Given the description of an element on the screen output the (x, y) to click on. 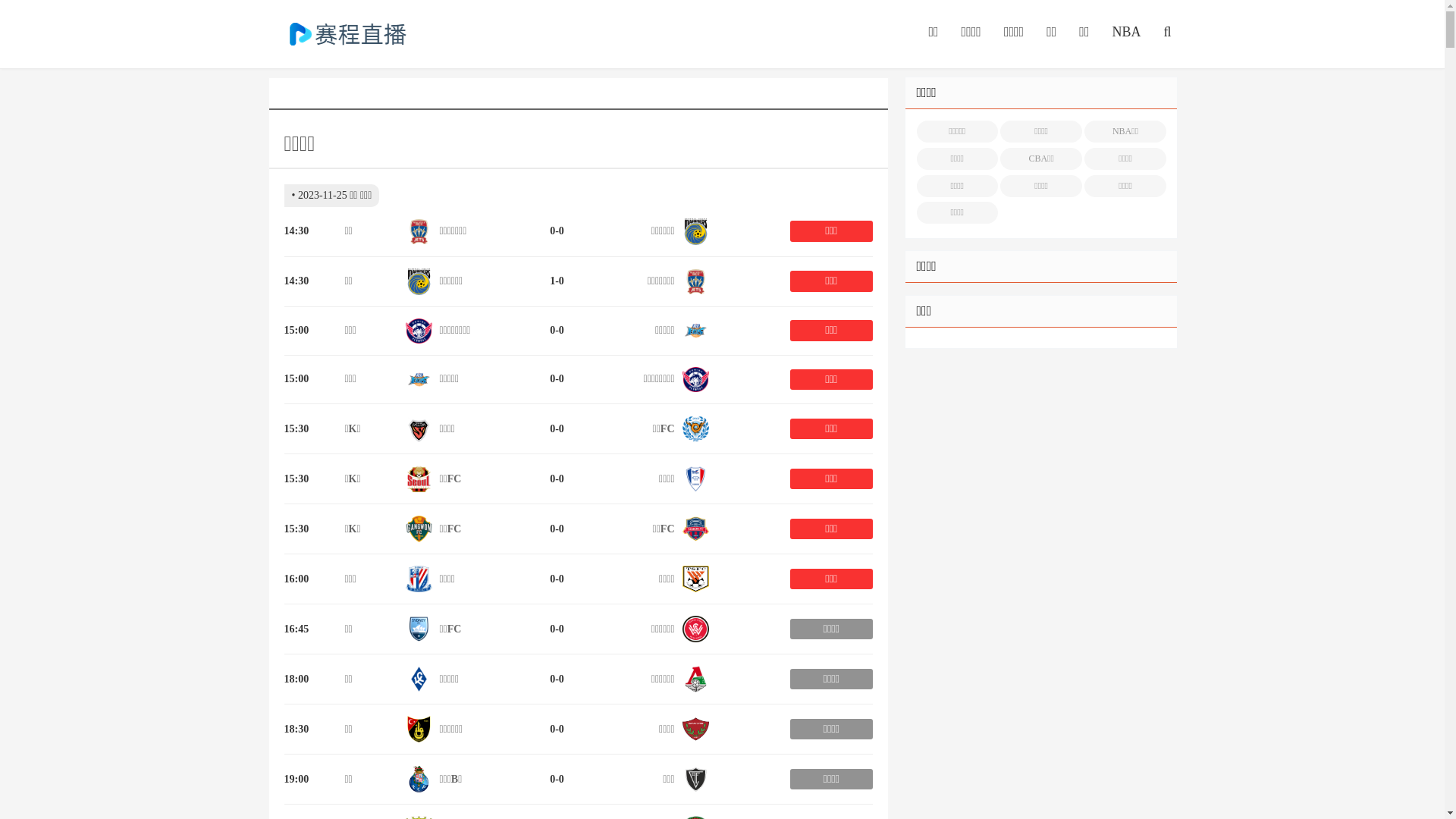
NBA Element type: text (1125, 32)
